Given the description of an element on the screen output the (x, y) to click on. 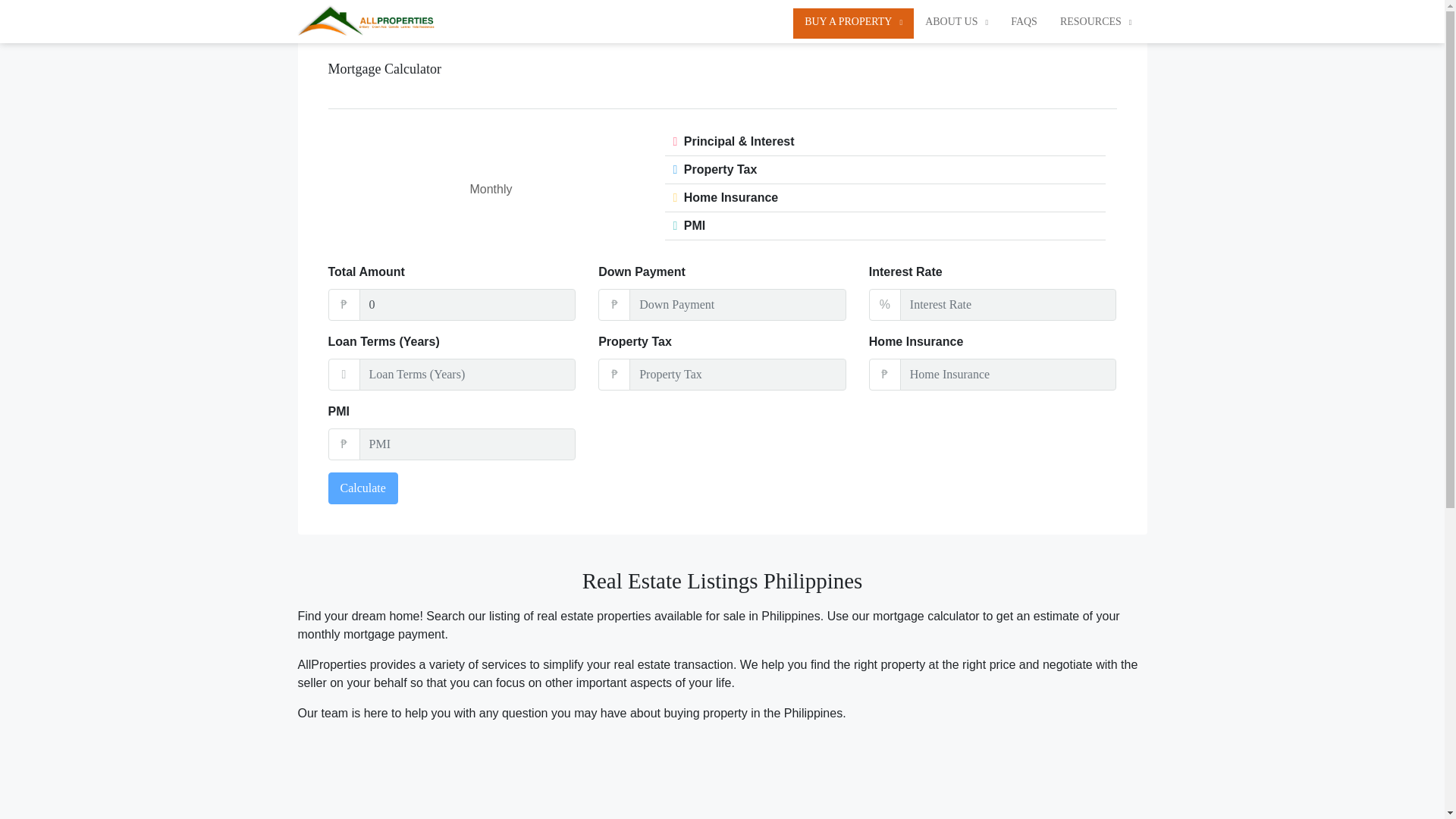
0 (467, 305)
ABOUT US (956, 21)
Calculate (362, 488)
FAQS (1023, 21)
RESOURCES (1095, 21)
BUY A PROPERTY (853, 21)
